Given the description of an element on the screen output the (x, y) to click on. 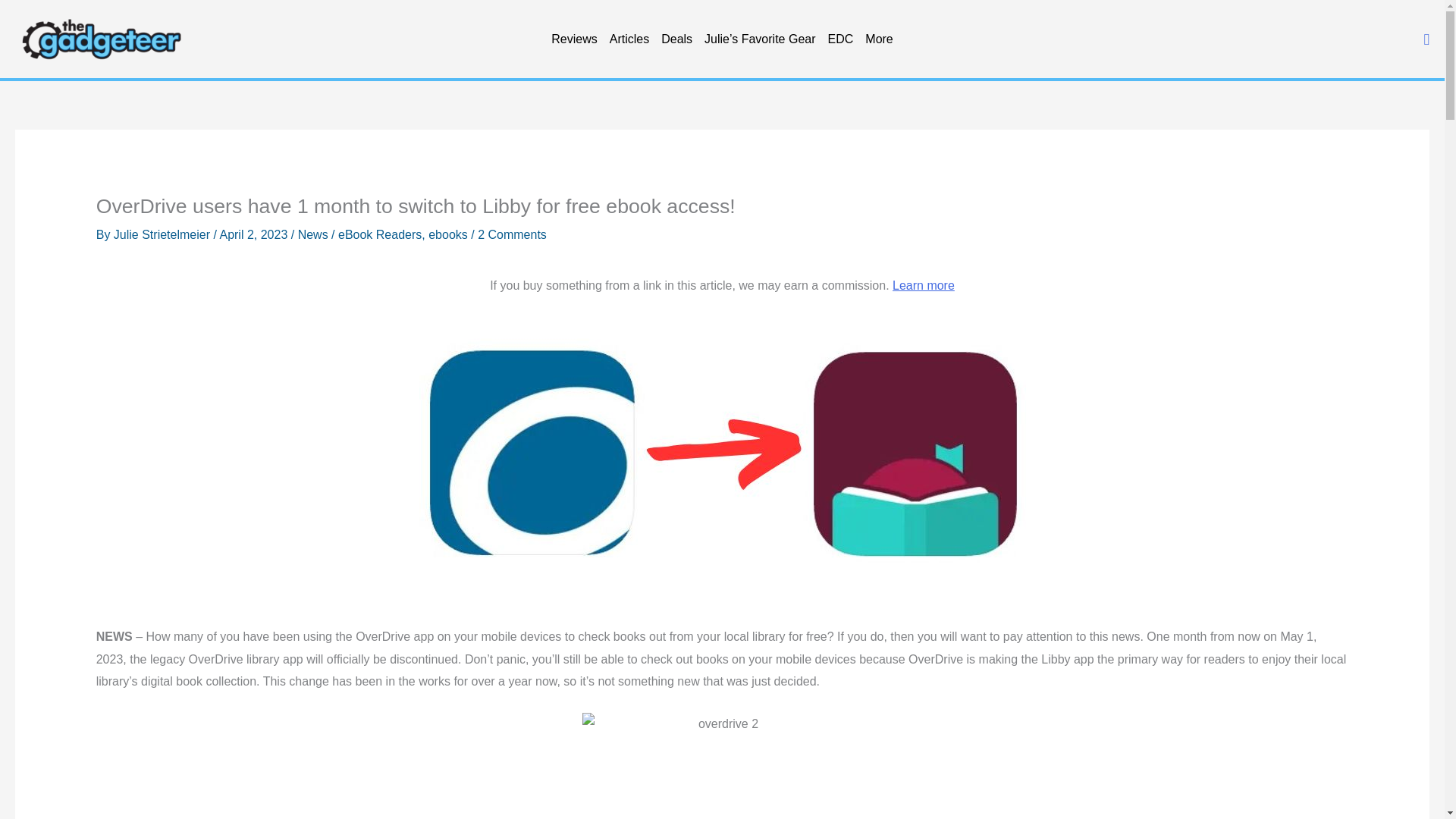
EDC (841, 39)
View all posts by Julie Strietelmeier (163, 234)
More (878, 39)
Articles (629, 39)
Deals (676, 39)
Reviews (573, 39)
